Given the description of an element on the screen output the (x, y) to click on. 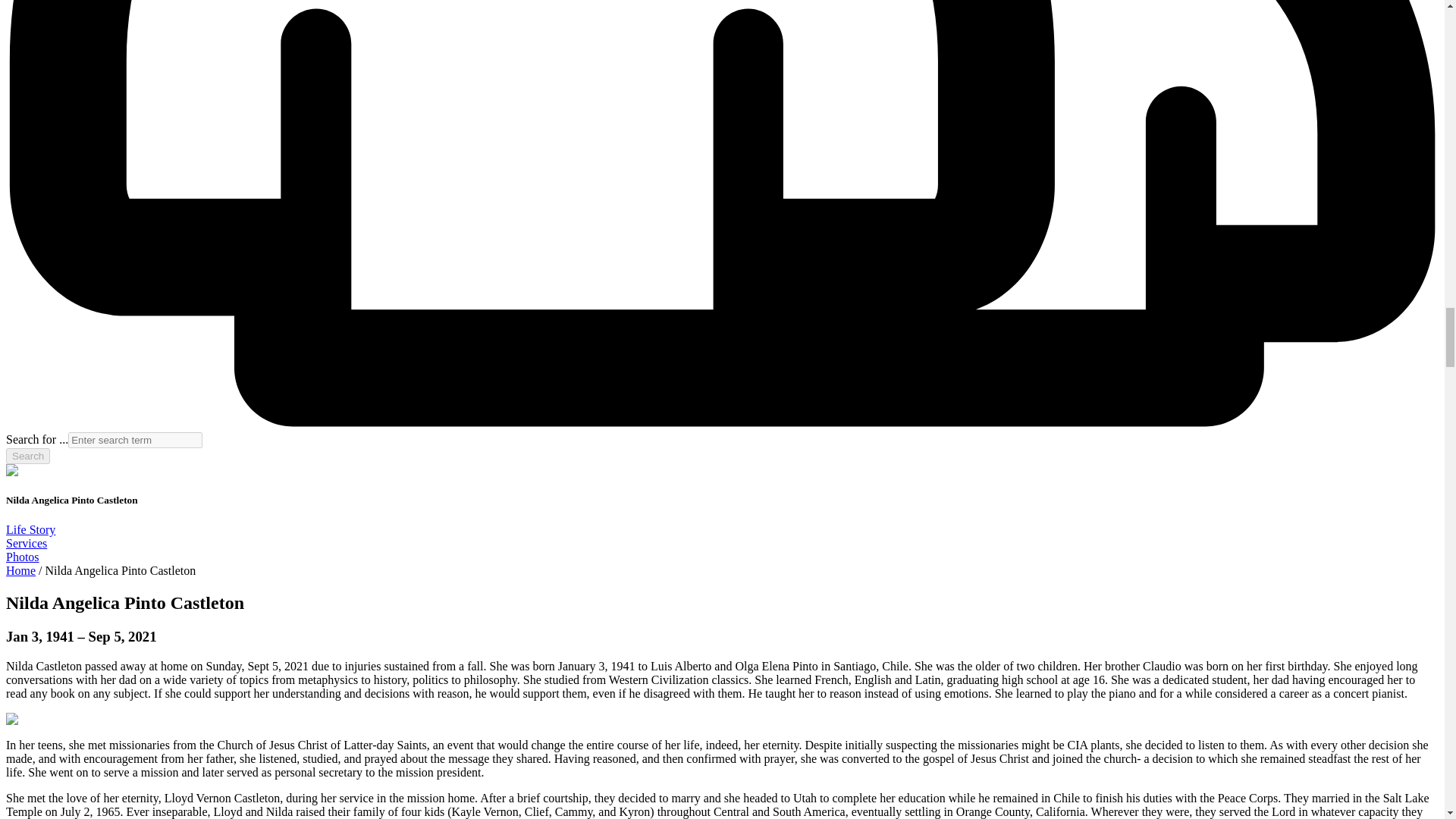
Search (27, 455)
Services (25, 543)
Home (19, 570)
Life Story (30, 529)
Photos (22, 556)
